Given the description of an element on the screen output the (x, y) to click on. 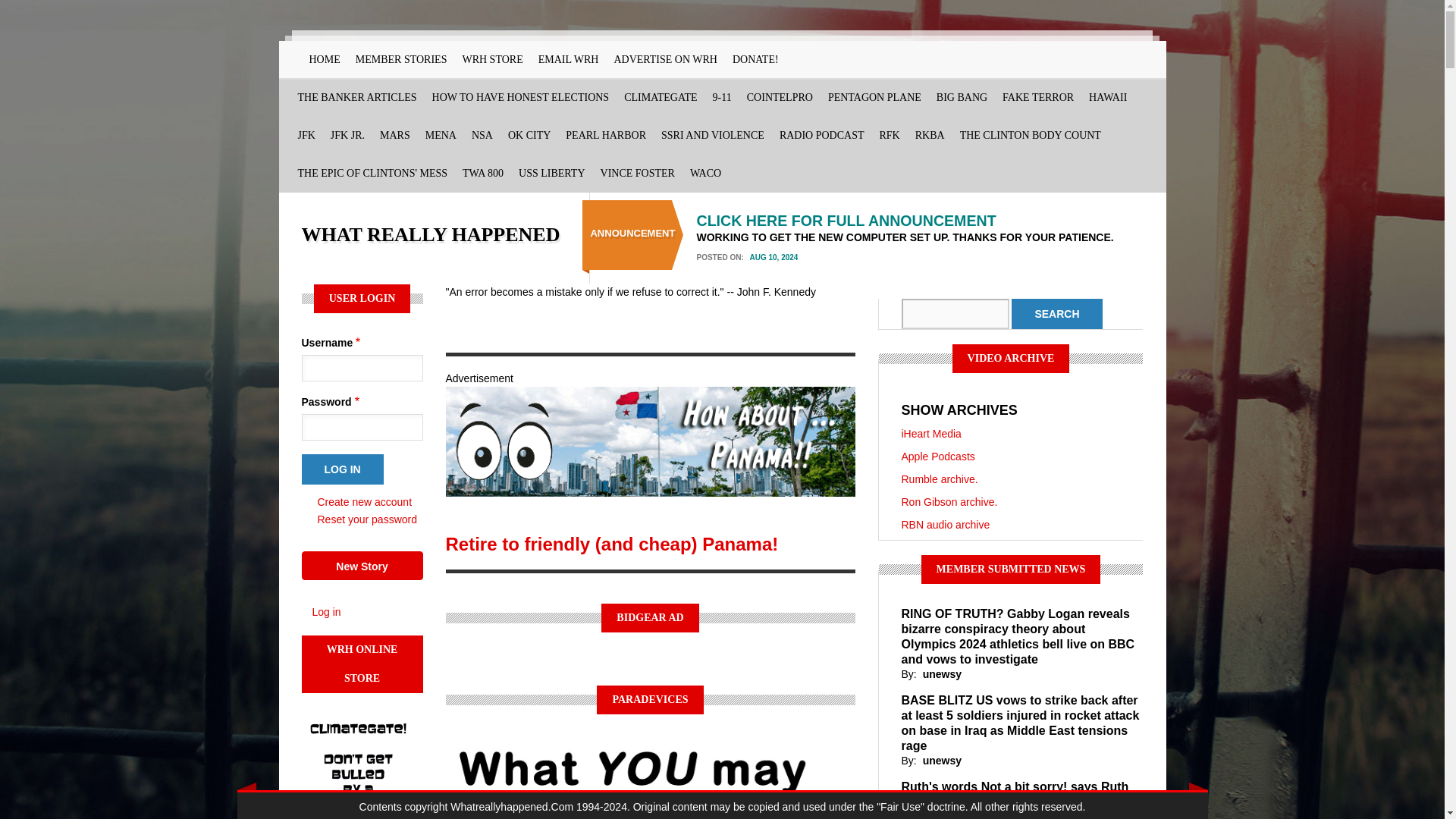
9-11 (721, 97)
THE CLINTON BODY COUNT (1030, 135)
NSA (482, 135)
MEMBER STORIES (400, 59)
HOW TO HAVE HONEST ELECTIONS (521, 97)
OK CITY (528, 135)
RADIO PODCAST (821, 135)
MENA (440, 135)
SSRI AND VIOLENCE (712, 135)
WRH STORE (491, 59)
